Given the description of an element on the screen output the (x, y) to click on. 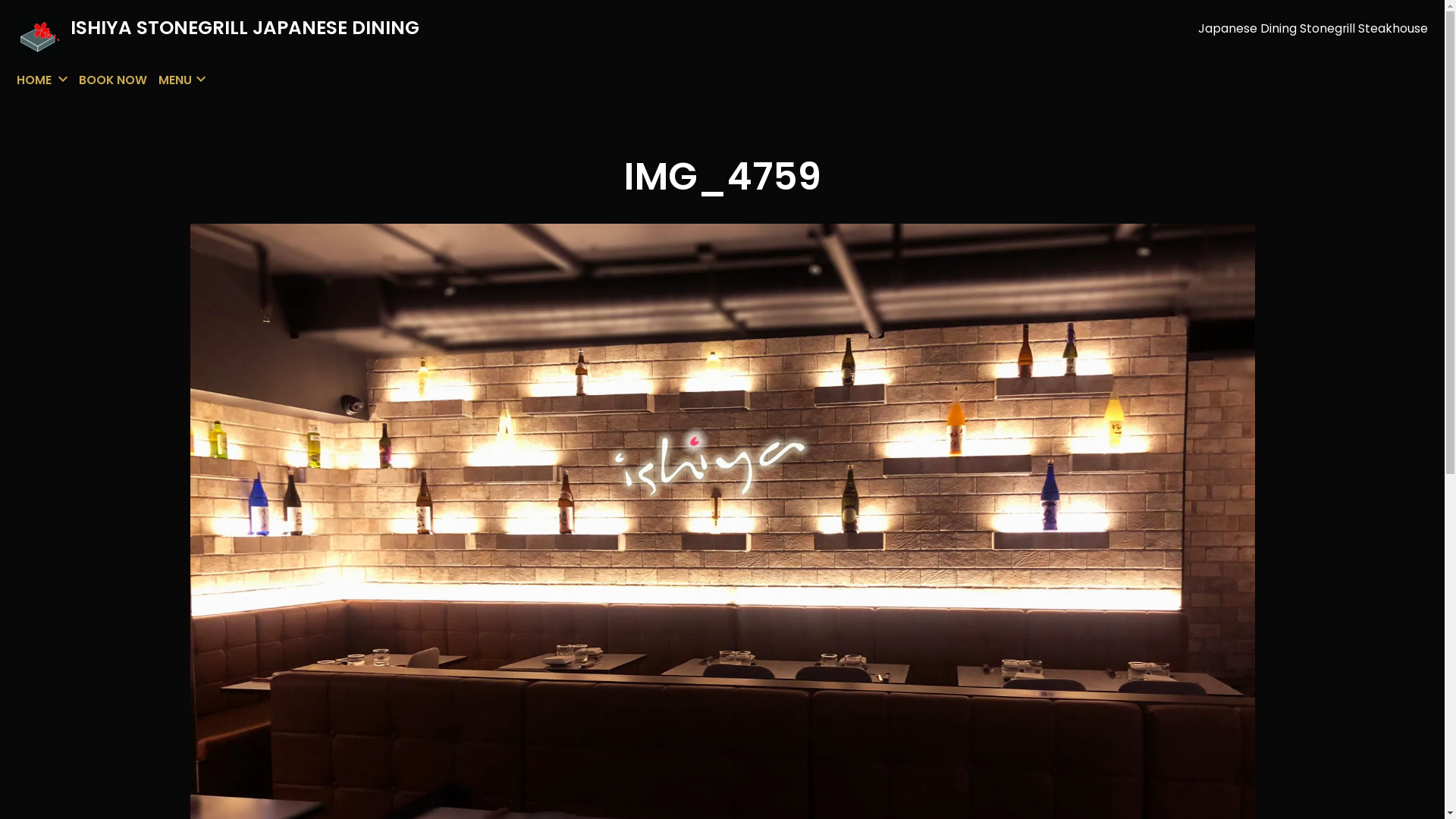
BOOK NOW Element type: text (112, 79)
MENU Element type: text (174, 79)
HOME Element type: text (33, 79)
ISHIYA STONEGRILL JAPANESE DINING Element type: text (244, 27)
